Given the description of an element on the screen output the (x, y) to click on. 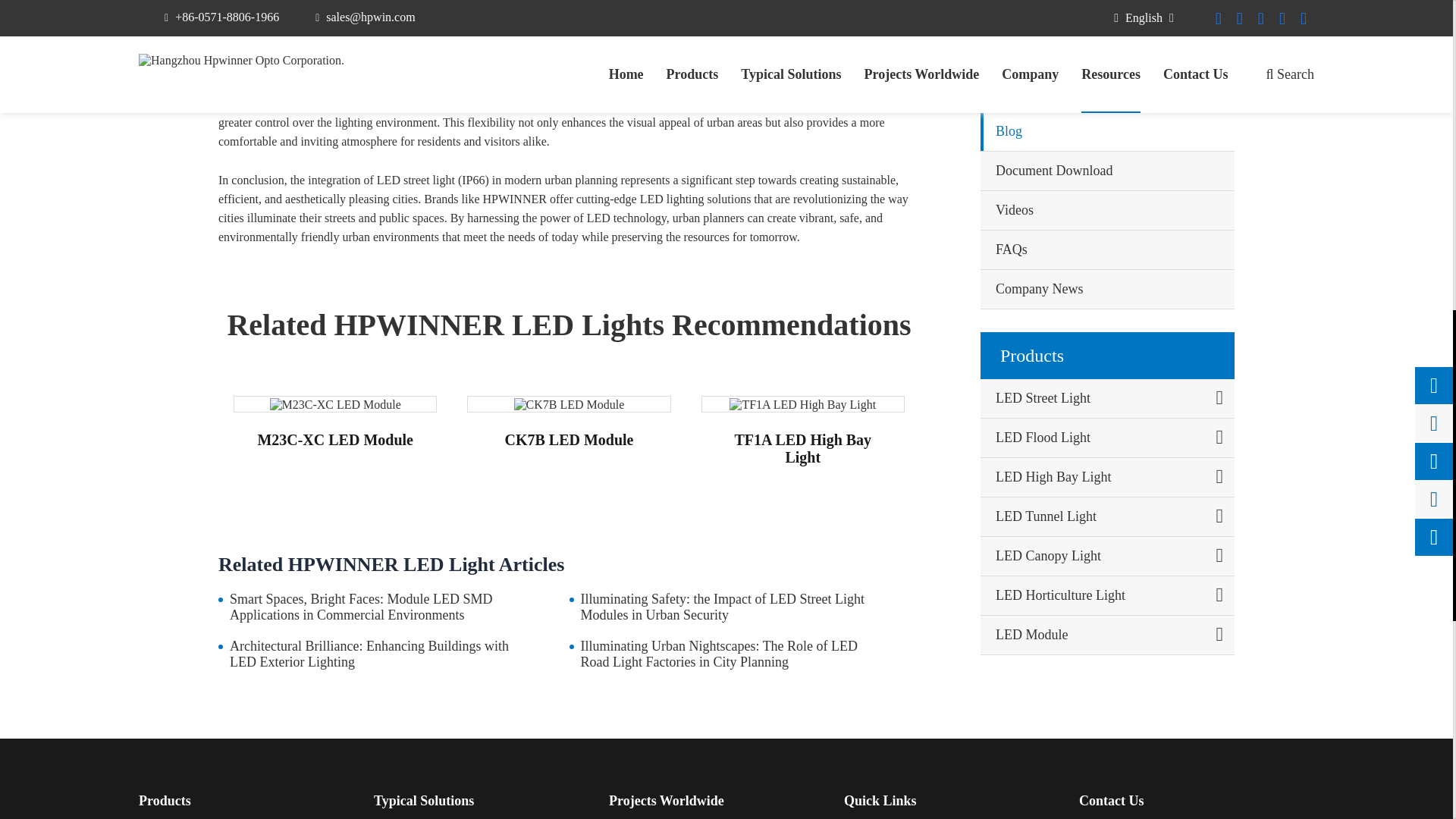
CK7B LED Module (568, 404)
TF1A LED High Bay Light (802, 404)
M23C-XC LED Module (335, 404)
